Given the description of an element on the screen output the (x, y) to click on. 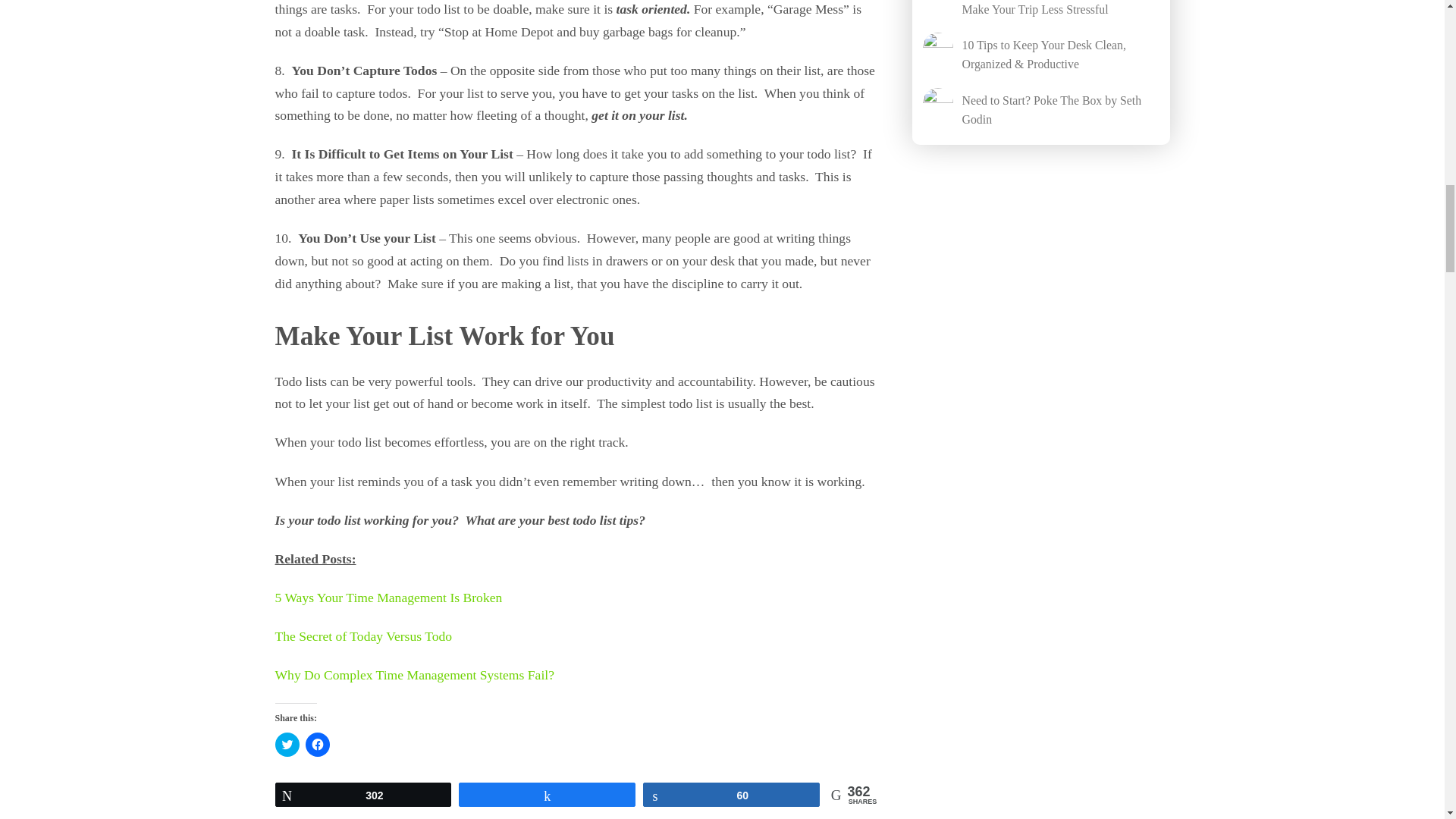
60 (730, 793)
302 (363, 793)
The Secret of Today Versus Todo (363, 635)
5 Ways Your Time Management Is Broken (388, 597)
Click to share on Twitter (286, 744)
Click to share on Facebook (316, 744)
Why Do Complex Time Management Systems Fail? (414, 674)
